Given the description of an element on the screen output the (x, y) to click on. 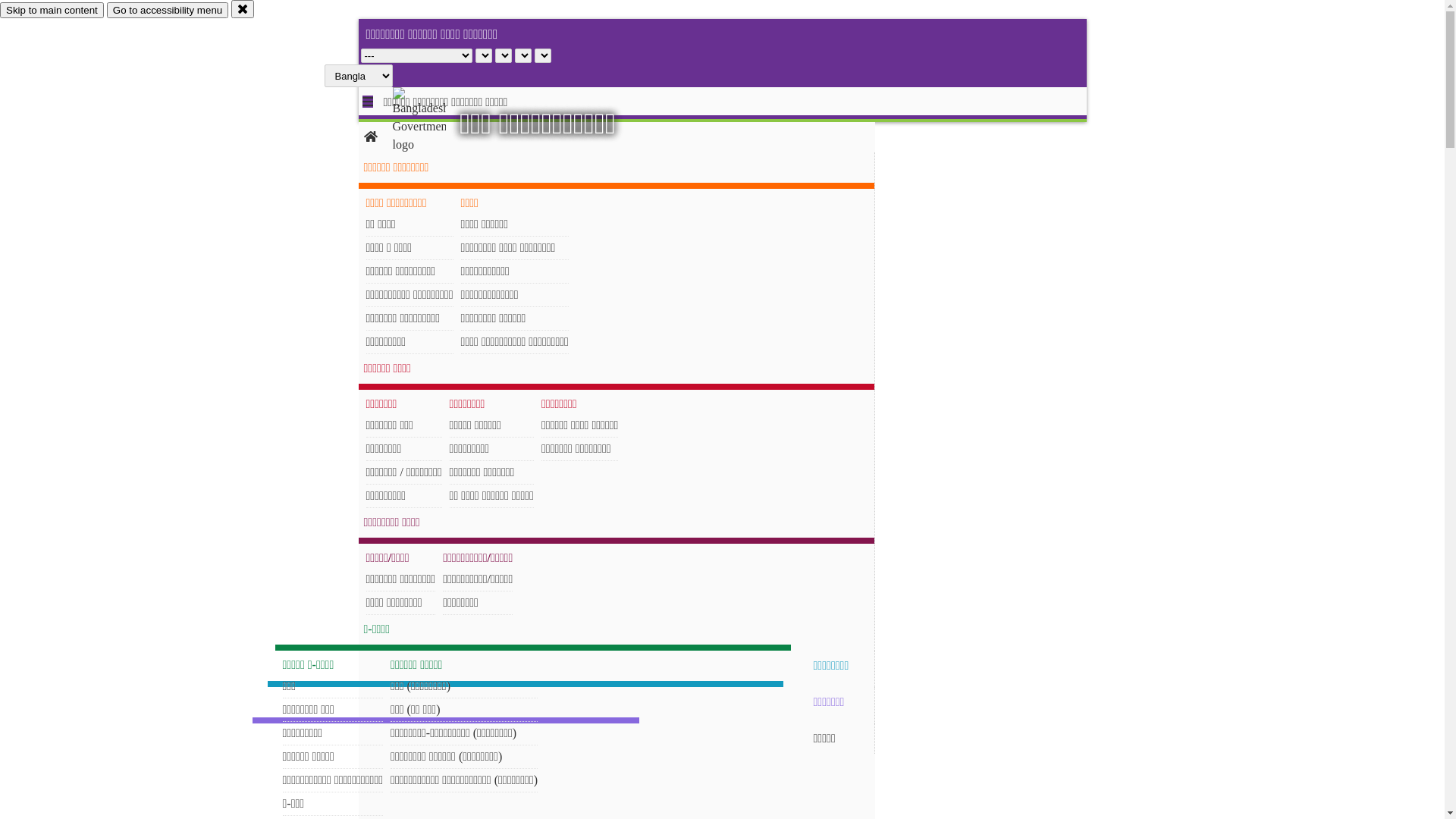
Go to accessibility menu Element type: text (167, 10)
Skip to main content Element type: text (51, 10)

                
             Element type: hover (431, 120)
close Element type: hover (242, 9)
